Given the description of an element on the screen output the (x, y) to click on. 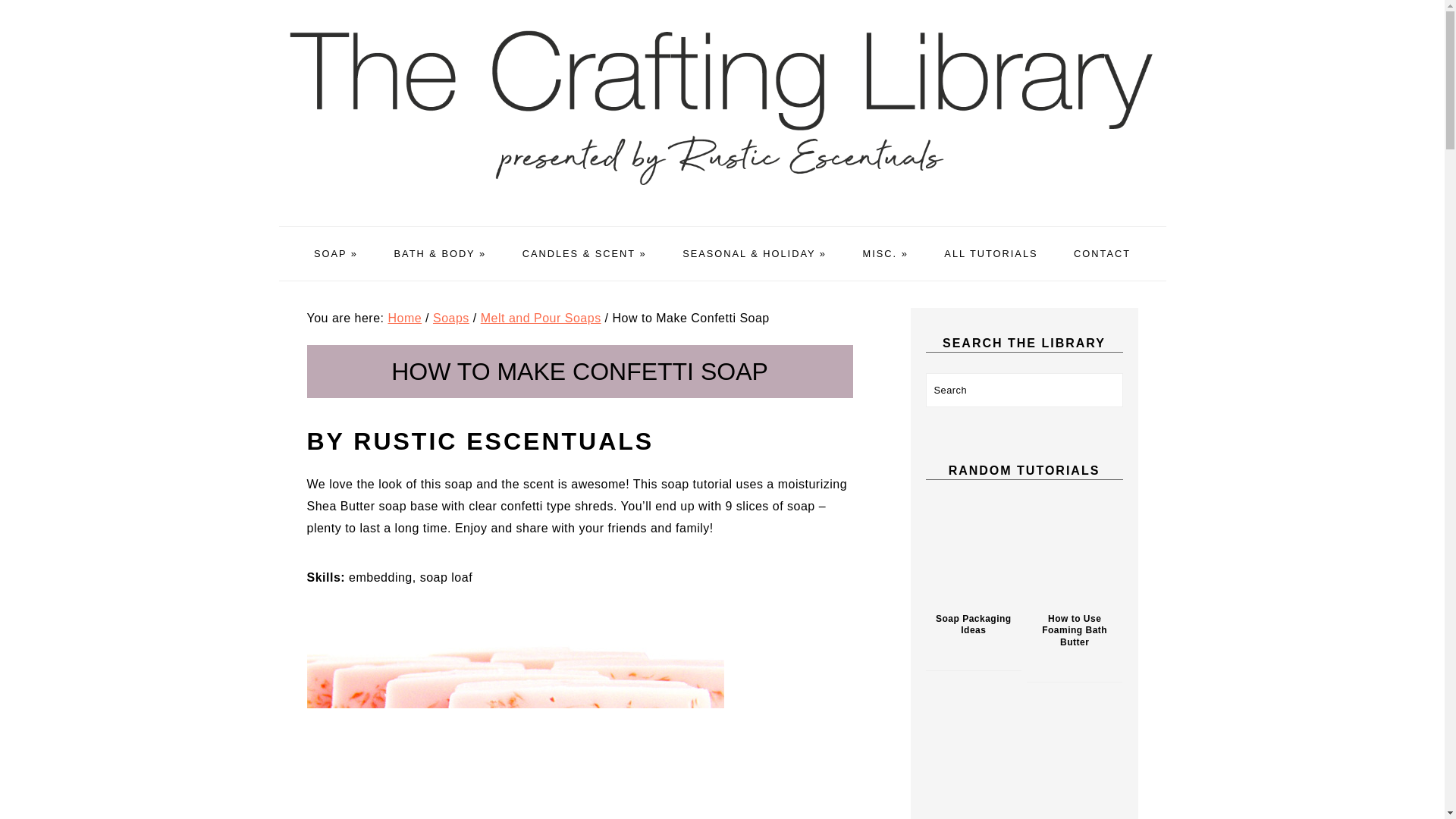
How to Use Foaming Bath Butter (1074, 548)
ALL TUTORIALS (990, 253)
Soap Packaging Ideas (973, 548)
All About Gel Candles (1074, 758)
